Given the description of an element on the screen output the (x, y) to click on. 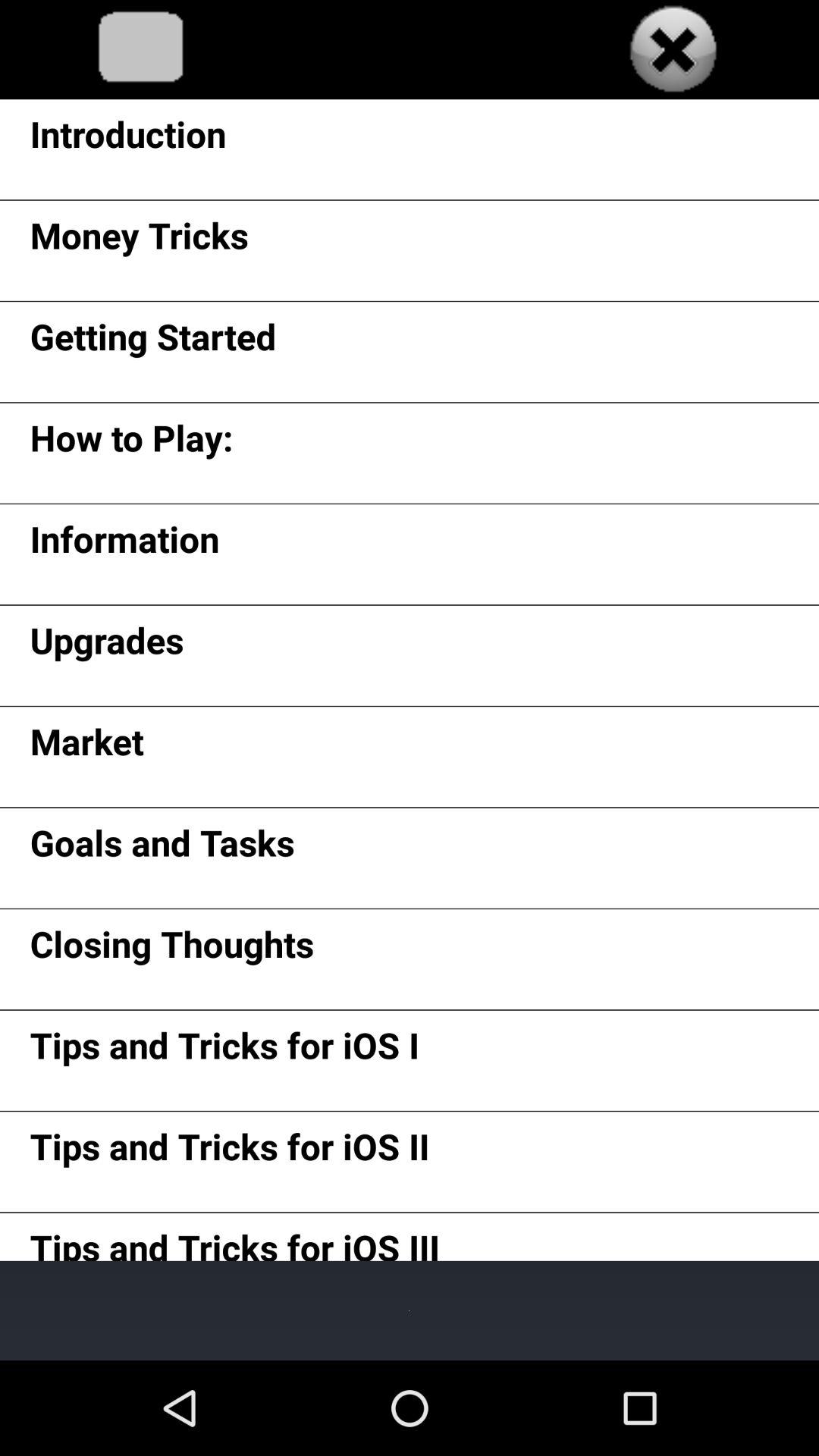
click app above information (131, 443)
